Given the description of an element on the screen output the (x, y) to click on. 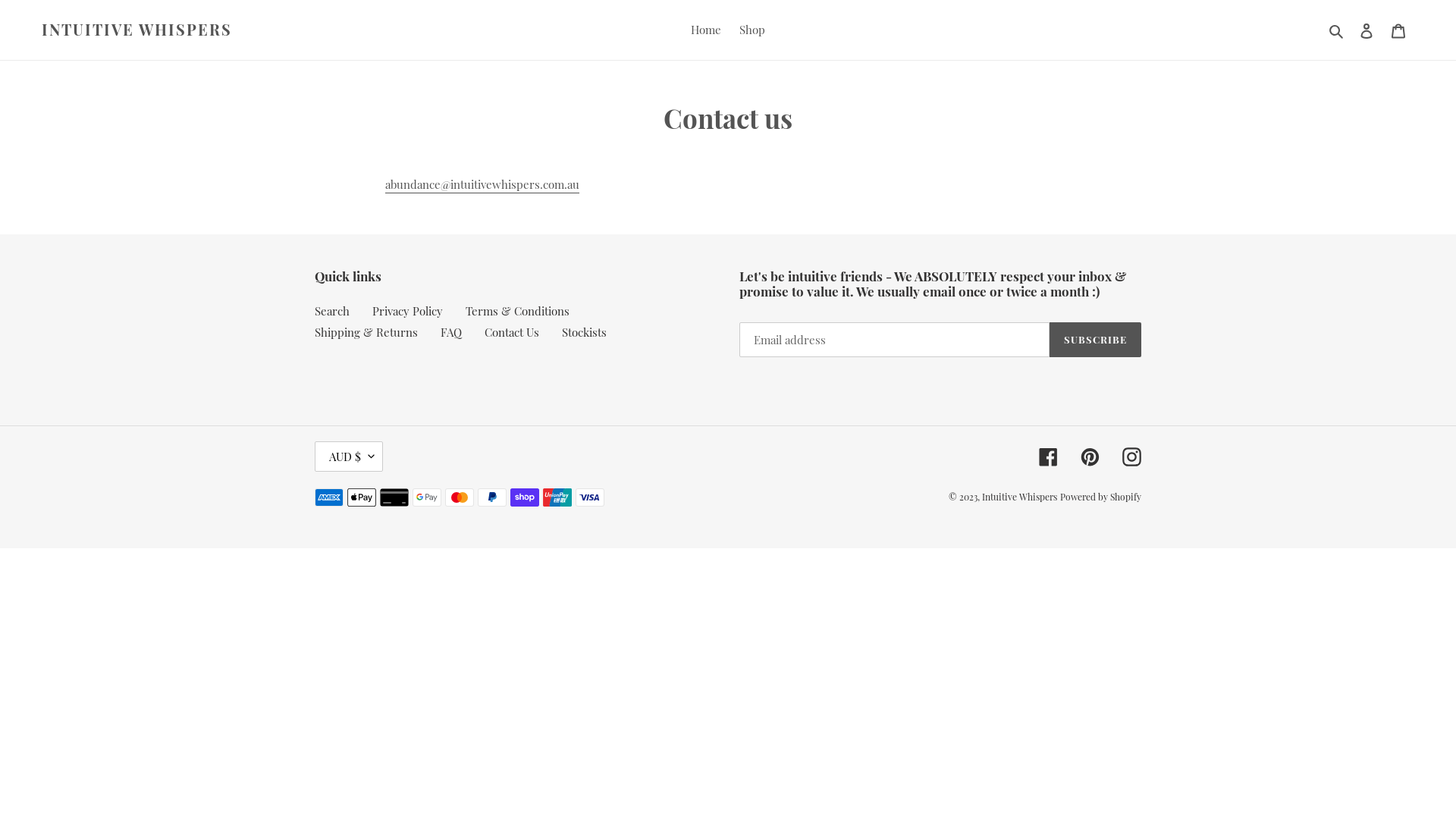
Stockists Element type: text (583, 331)
Search Element type: text (331, 310)
Pinterest Element type: text (1089, 457)
Shipping & Returns Element type: text (365, 331)
Shop Element type: text (751, 29)
Facebook Element type: text (1047, 457)
Instagram Element type: text (1131, 457)
Home Element type: text (705, 29)
AUD $ Element type: text (348, 456)
FAQ Element type: text (450, 331)
Cart Element type: text (1398, 29)
abundance@intuitivewhispers.com.au Element type: text (482, 183)
Log in Element type: text (1366, 29)
INTUITIVE WHISPERS Element type: text (136, 29)
SUBSCRIBE Element type: text (1095, 339)
Contact Us Element type: text (511, 331)
Powered by Shopify Element type: text (1100, 496)
Intuitive Whispers Element type: text (1019, 496)
Search Element type: text (1337, 29)
Terms & Conditions Element type: text (517, 310)
Privacy Policy Element type: text (407, 310)
